Given the description of an element on the screen output the (x, y) to click on. 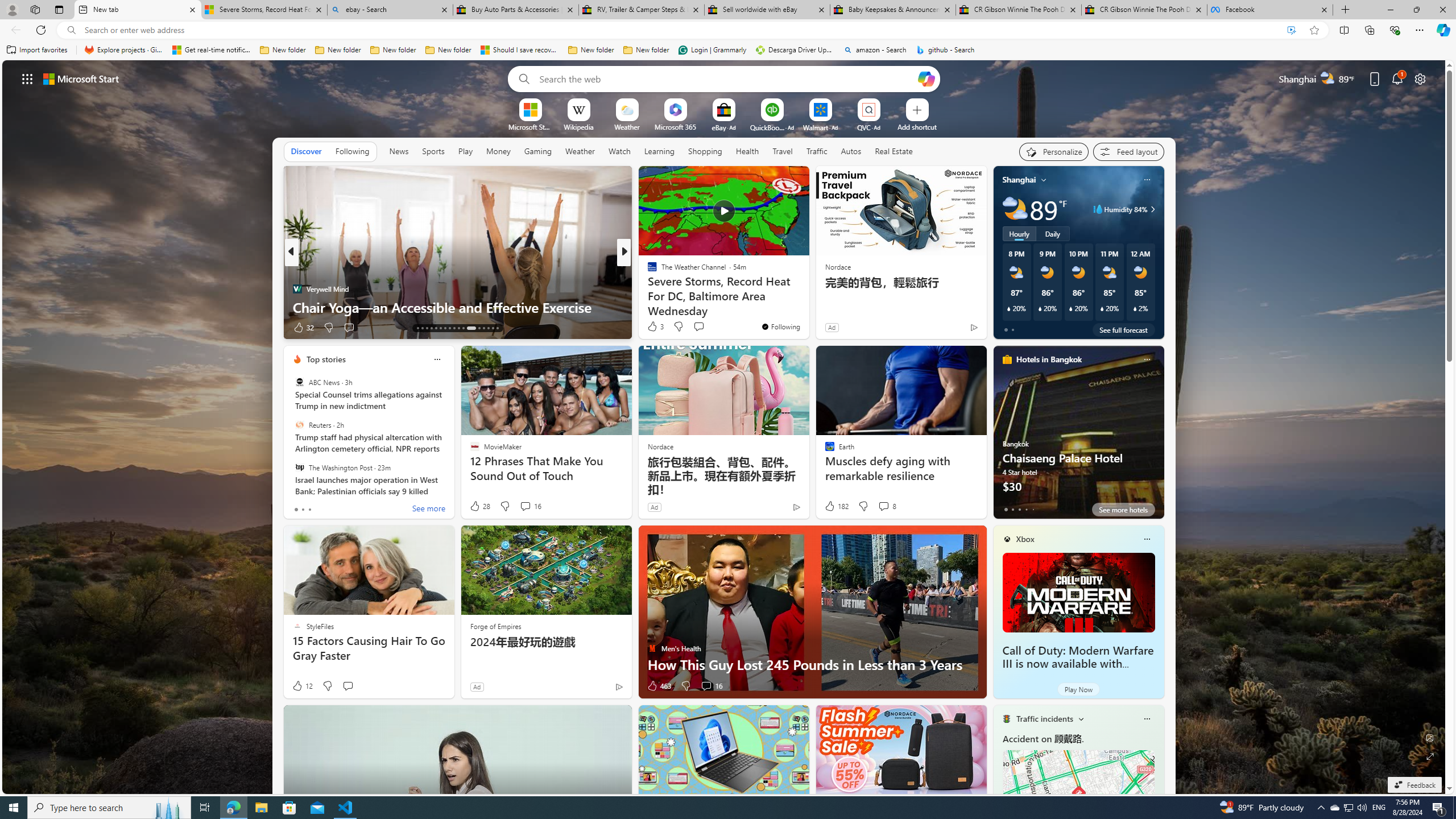
To get missing image descriptions, open the context menu. (529, 109)
3 Like (655, 326)
Feed settings (1128, 151)
Shopping (705, 151)
tab-2 (1019, 509)
github - Search (945, 49)
Lonely dolphin may be behind series of attacks on swimmers (807, 298)
